Given the description of an element on the screen output the (x, y) to click on. 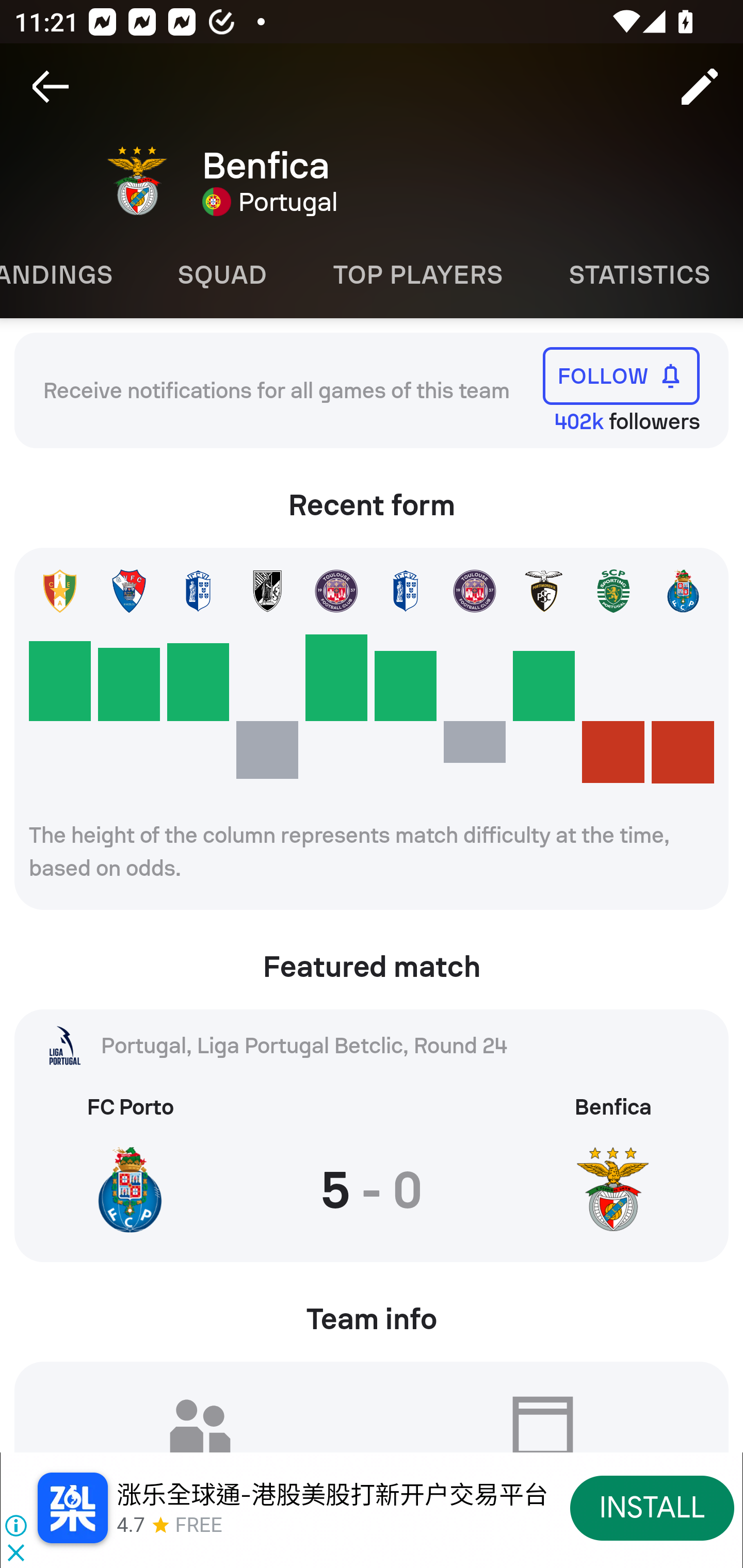
Navigate up (50, 86)
Edit (699, 86)
Standings STANDINGS (72, 275)
Squad SQUAD (222, 275)
Top players TOP PLAYERS (418, 275)
Statistics STATISTICS (639, 275)
FOLLOW (621, 375)
INSTALL (652, 1507)
涨乐全球通-港股美股打新开户交易平台 (332, 1494)
